Given the description of an element on the screen output the (x, y) to click on. 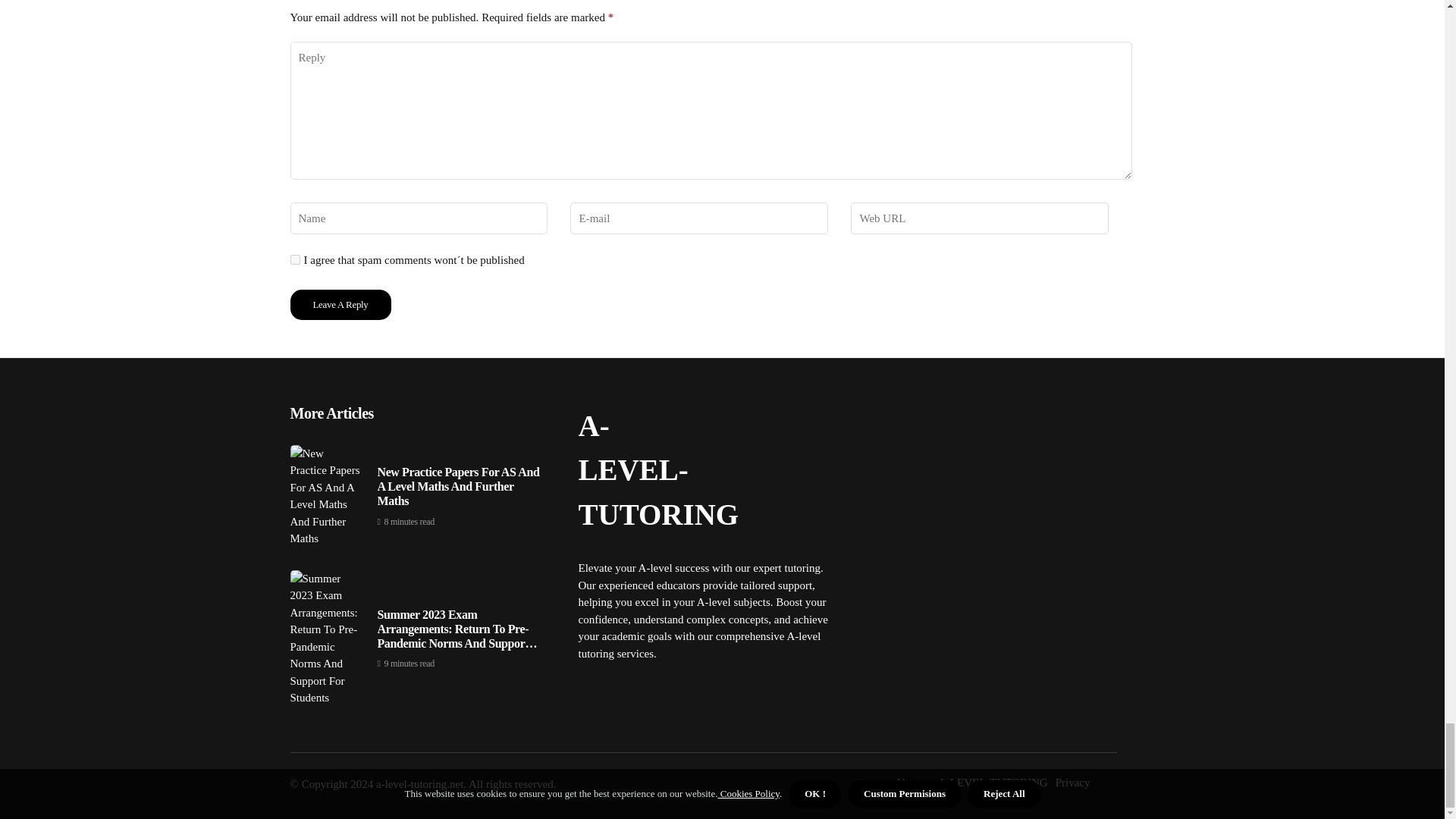
Leave a Reply (339, 304)
Leave a Reply (339, 304)
yes (294, 259)
